Given the description of an element on the screen output the (x, y) to click on. 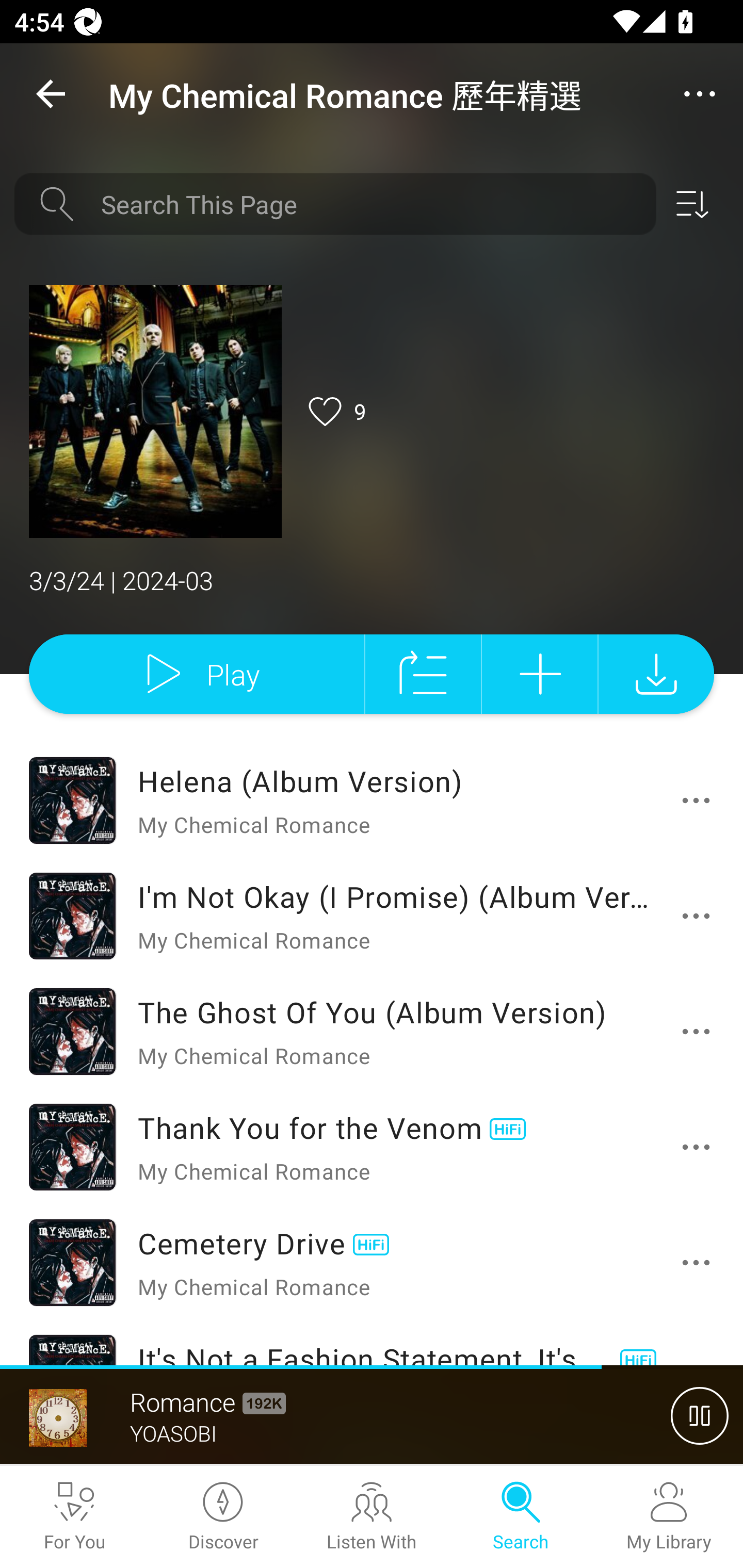
overflow (699, 93)
Search This Page (371, 204)
9 button_collection (334, 411)
3/3/24 | 2024-03 (371, 581)
Play (196, 674)
add to queue (422, 674)
加入至歌單 (539, 674)
下載歌曲至手機 (656, 674)
Helena (Album Version) My Chemical Romance 更多操作選項 (371, 800)
更多操作選項 (699, 800)
更多操作選項 (699, 915)
更多操作選項 (699, 1031)
Thank You for the Venom My Chemical Romance 更多操作選項 (371, 1146)
更多操作選項 (699, 1146)
Cemetery Drive My Chemical Romance 更多操作選項 (371, 1262)
更多操作選項 (699, 1262)
暫停播放 (699, 1415)
For You (74, 1517)
Discover (222, 1517)
Listen With (371, 1517)
Search (519, 1517)
My Library (668, 1517)
